Given the description of an element on the screen output the (x, y) to click on. 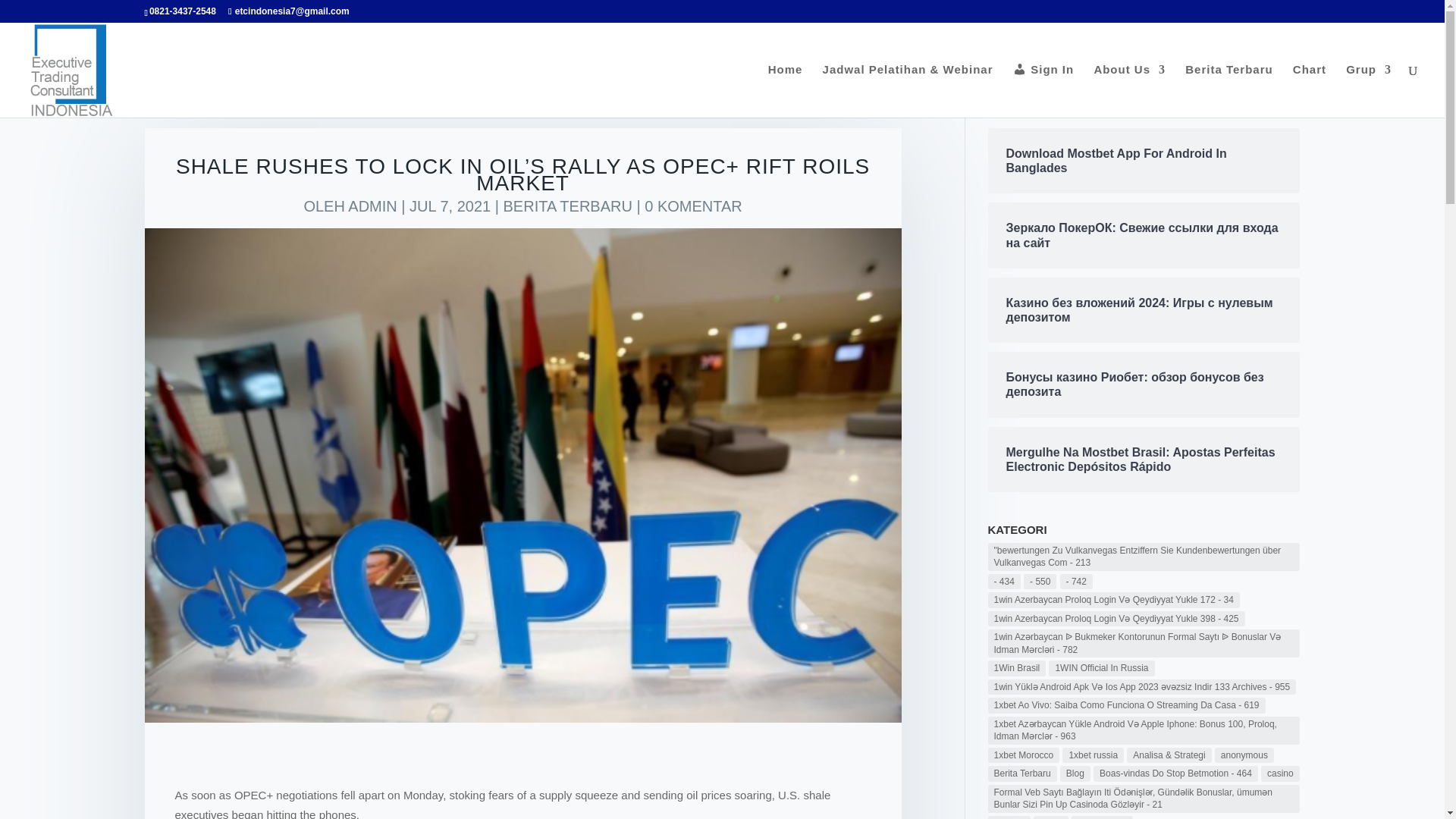
BERITA TERBARU (567, 206)
Postingan oleh admin (371, 206)
Berita Terbaru (1228, 90)
About Us (1129, 90)
0 KOMENTAR (693, 206)
ADMIN (371, 206)
Sign In (1043, 90)
